Given the description of an element on the screen output the (x, y) to click on. 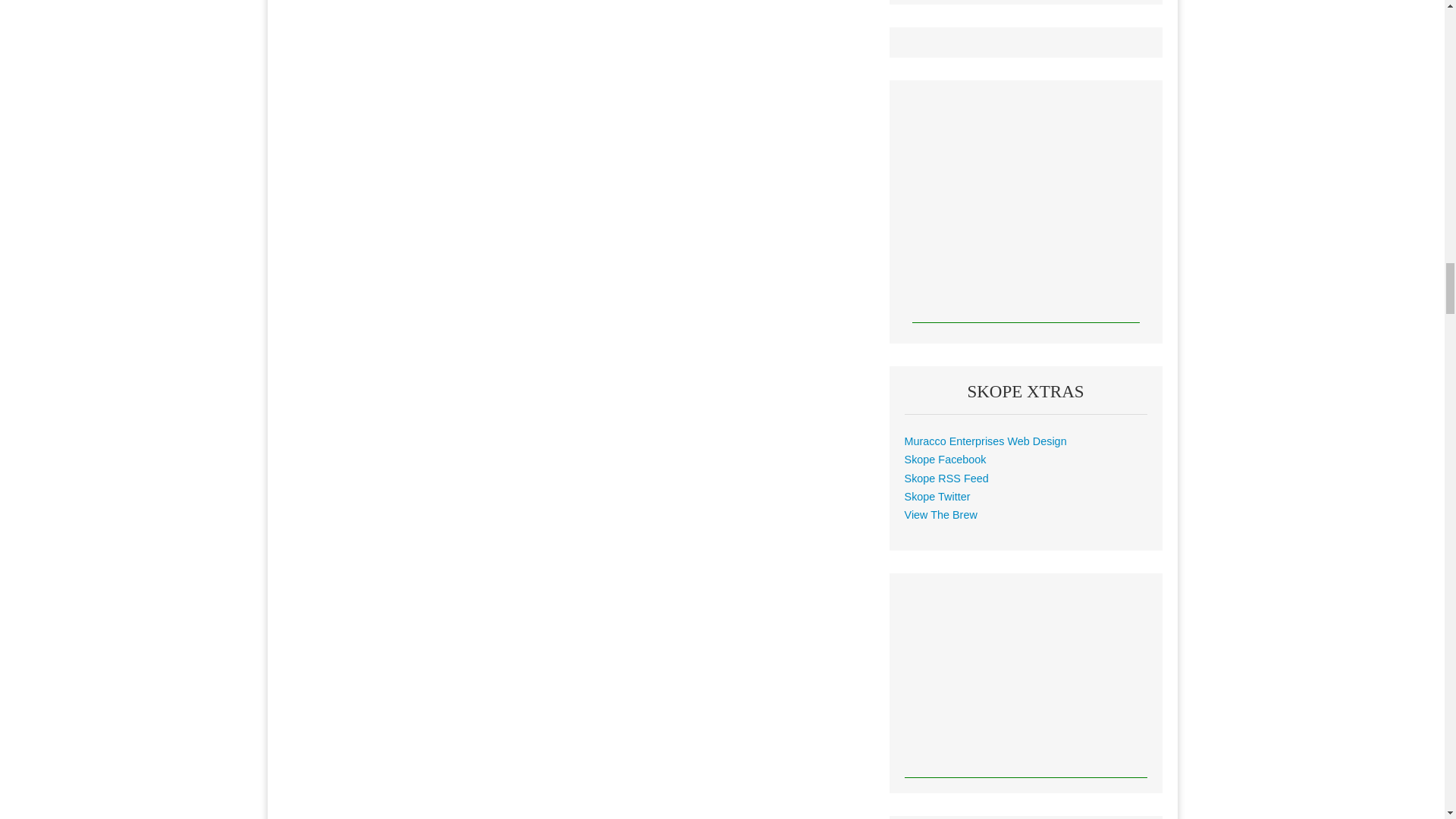
Skopemag.com RSS Feed (946, 478)
